Given the description of an element on the screen output the (x, y) to click on. 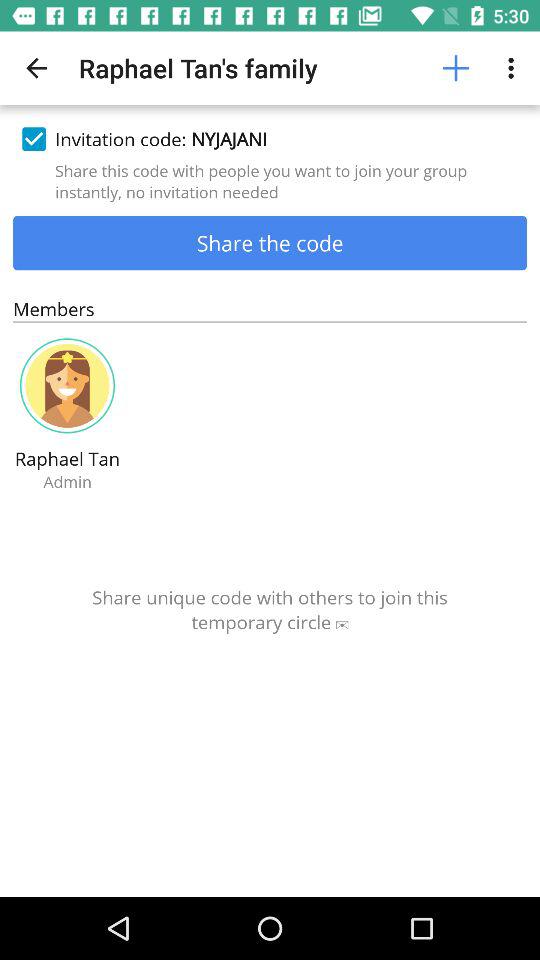
turn off the item next to raphael tan s app (455, 67)
